Given the description of an element on the screen output the (x, y) to click on. 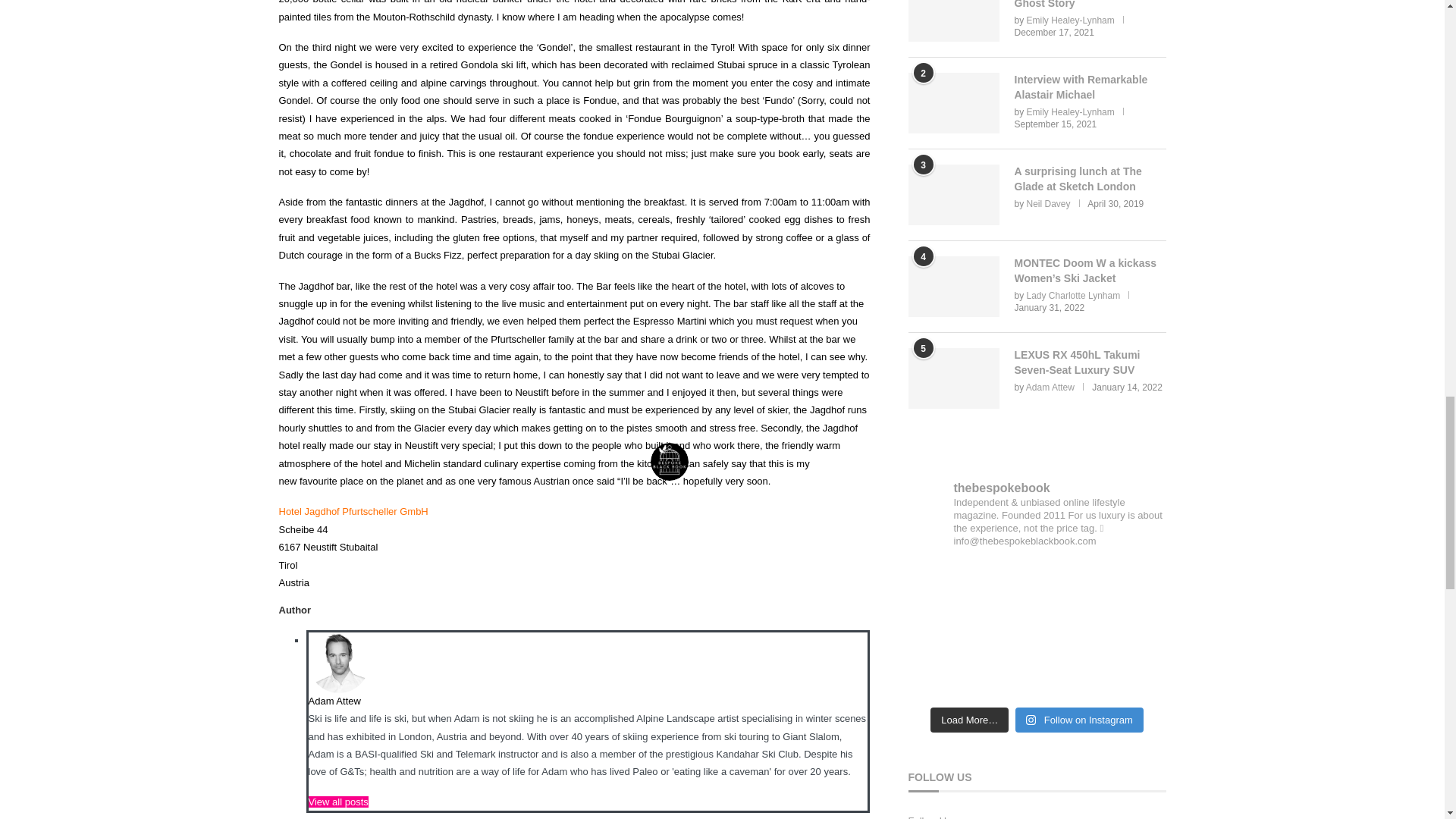
Hotel Jagdhof 11 (337, 662)
View all posts (337, 801)
Adam Attew (333, 700)
